Given the description of an element on the screen output the (x, y) to click on. 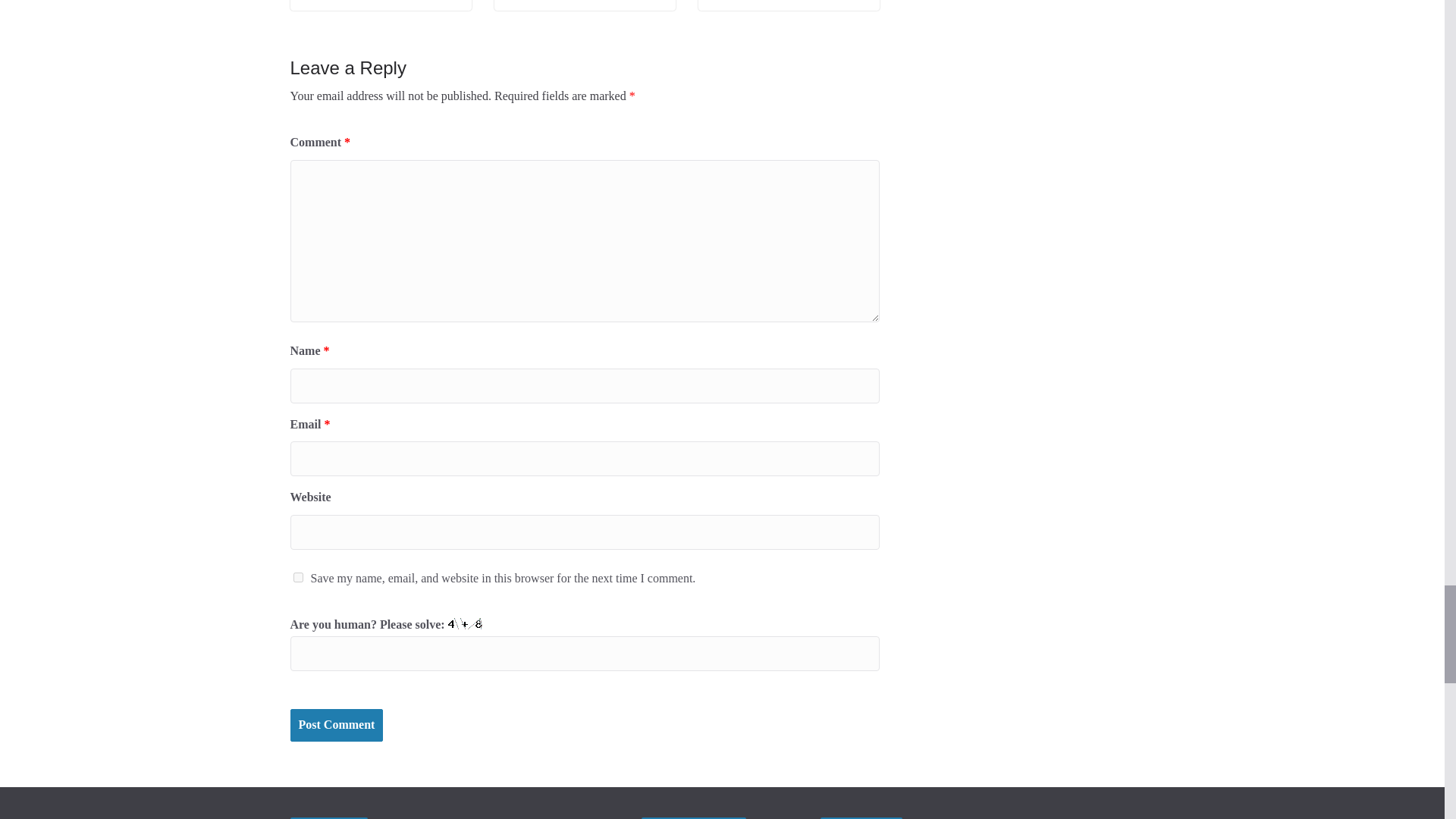
yes (297, 577)
Post Comment (335, 725)
